Given the description of an element on the screen output the (x, y) to click on. 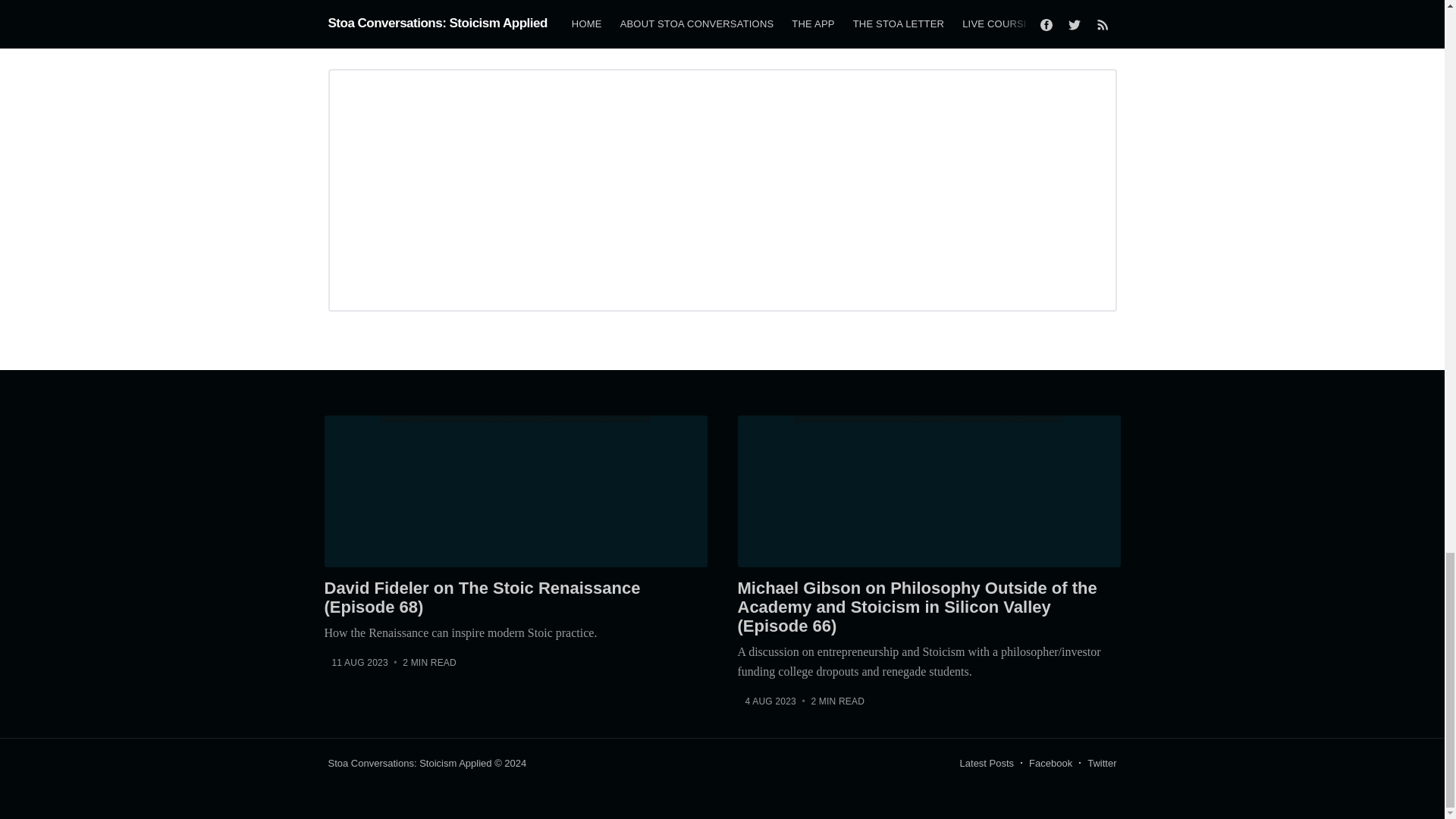
Twitter (1101, 763)
Facebook (1050, 763)
Stoa Conversations: Stoicism Applied (409, 763)
Latest Posts (986, 763)
